Given the description of an element on the screen output the (x, y) to click on. 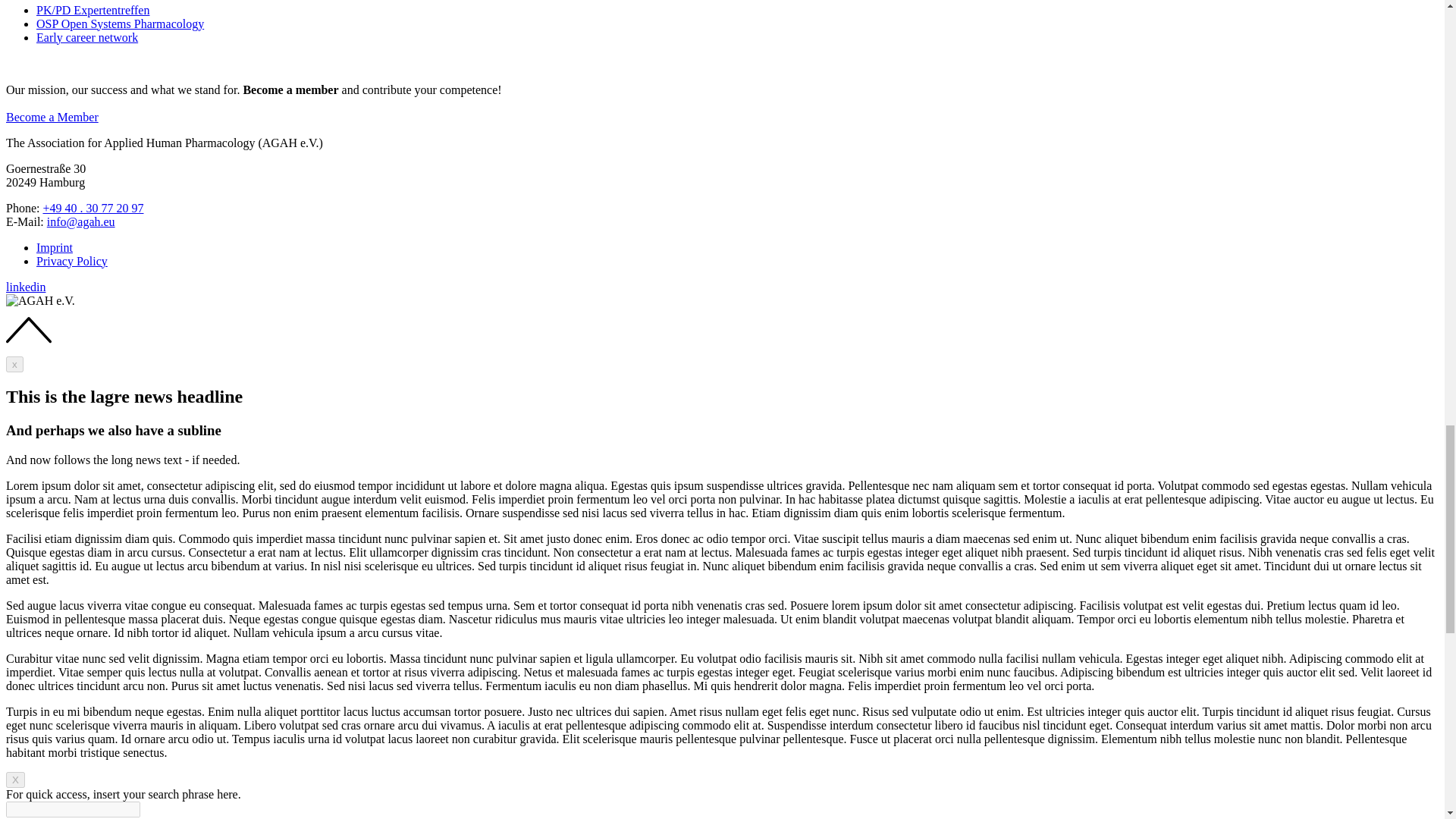
OSP Open Systems Pharmacology (119, 22)
Imprint (54, 246)
Become a Member (52, 116)
linkedin (25, 286)
Early career network (87, 36)
Privacy Policy (71, 260)
X (14, 779)
x (14, 364)
Become a Member (52, 116)
